Given the description of an element on the screen output the (x, y) to click on. 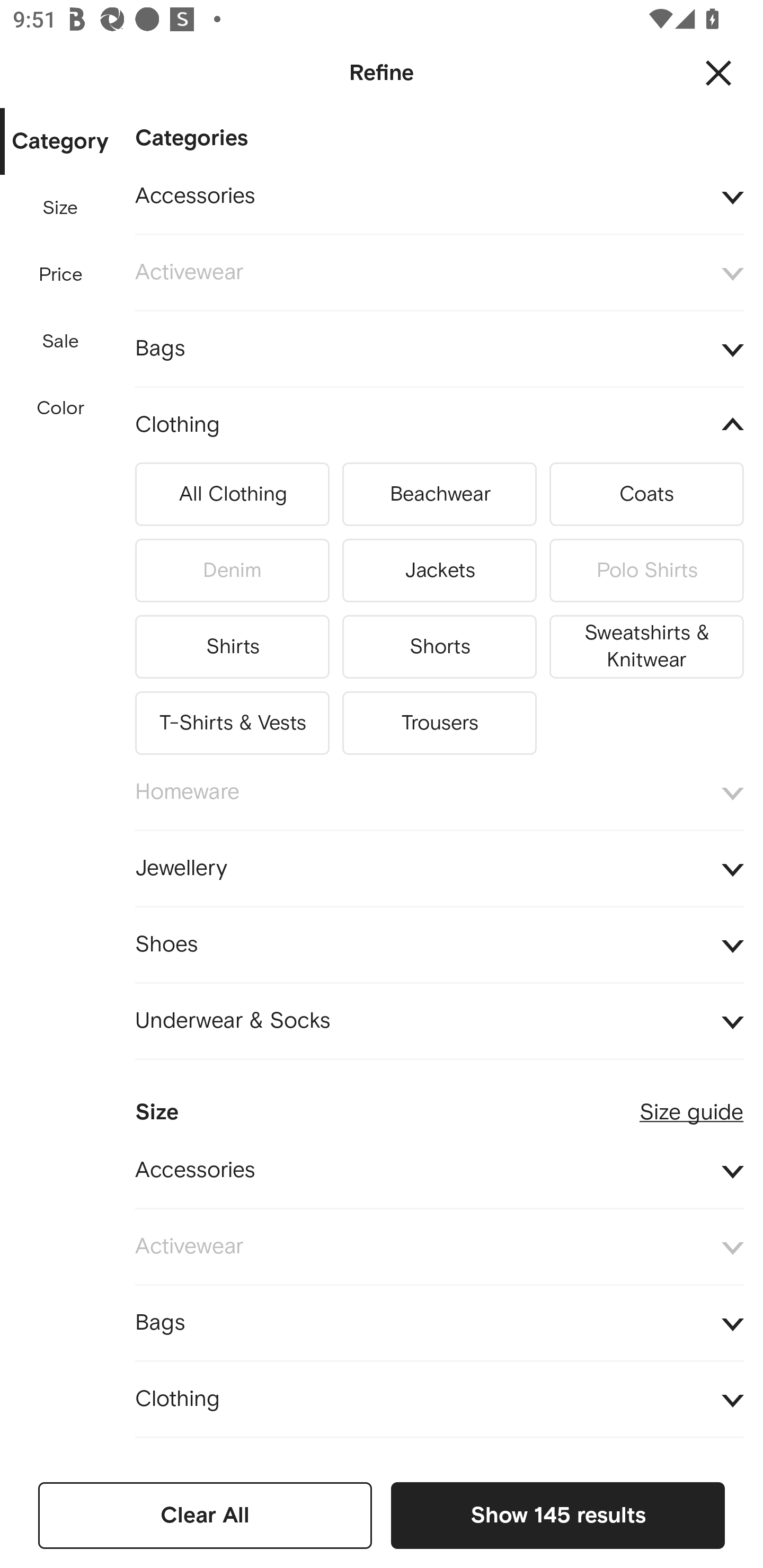
Category (60, 141)
Accessories (439, 196)
Size (60, 208)
Activewear (439, 272)
Price (60, 274)
Sale (60, 342)
Bags (439, 348)
Color (60, 408)
Clothing (439, 425)
All Clothing (232, 494)
Beachwear (439, 494)
Coats (646, 494)
Denim (232, 570)
Jackets (439, 570)
Polo Shirts (646, 570)
Shirts (232, 646)
Shorts (439, 646)
Sweatshirts & Knitwear (646, 646)
T-Shirts & Vests (232, 719)
Trousers (439, 719)
Homeware (439, 792)
Jewellery (439, 868)
Shoes (439, 944)
Underwear & Socks (439, 1021)
Size guide (691, 1104)
Accessories (439, 1170)
Activewear (439, 1246)
Bags (439, 1323)
Clothing (439, 1399)
Clear All (205, 1515)
Show 145 results (557, 1515)
